Given the description of an element on the screen output the (x, y) to click on. 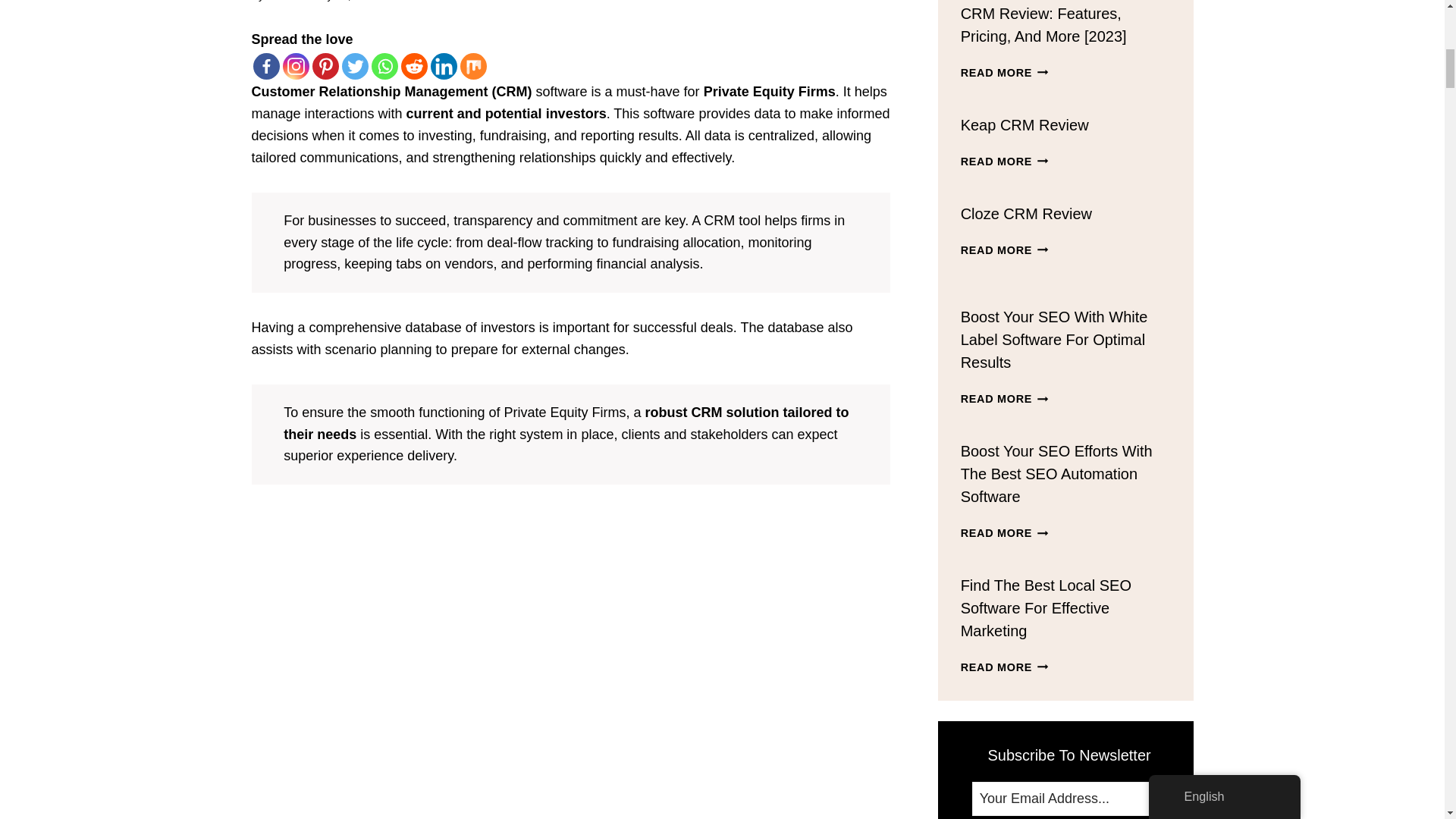
Linkedin (443, 66)
Lee M (281, 0)
Facebook (266, 66)
Twitter (354, 66)
Pinterest (326, 66)
Reddit (413, 66)
Whatsapp (384, 66)
Instagram (295, 66)
Mix (473, 66)
